Given the description of an element on the screen output the (x, y) to click on. 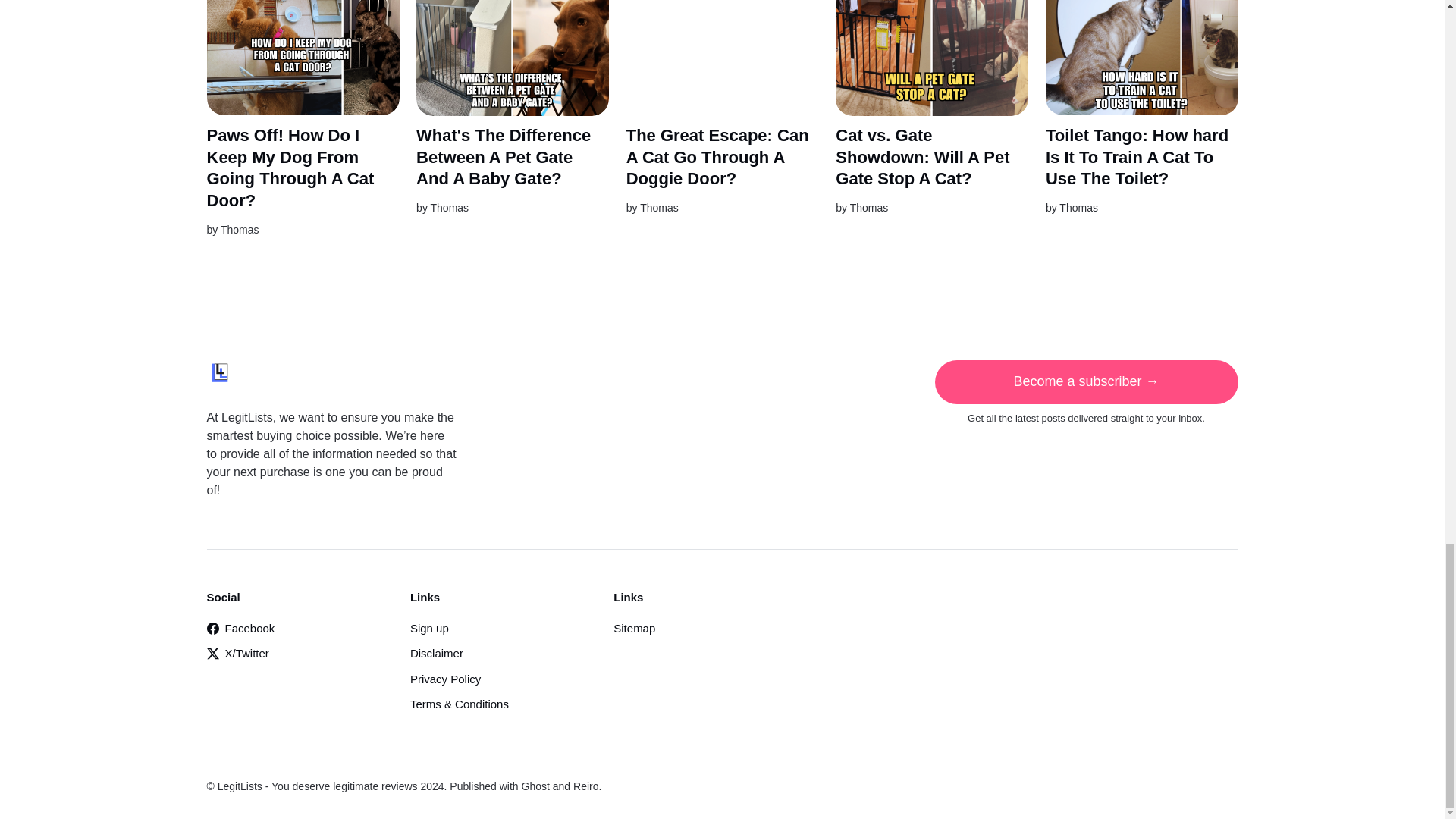
Cat vs. Gate Showdown: Will A Pet Gate Stop A Cat? (922, 157)
Thomas (240, 229)
What's The Difference Between A Pet Gate And A Baby Gate? (503, 157)
Facebook (240, 627)
Thomas (869, 207)
Sign up (429, 627)
Thomas (1078, 207)
Thomas (449, 207)
The Great Escape: Can A Cat Go Through A Doggie Door? (717, 157)
Thomas (659, 207)
